Given the description of an element on the screen output the (x, y) to click on. 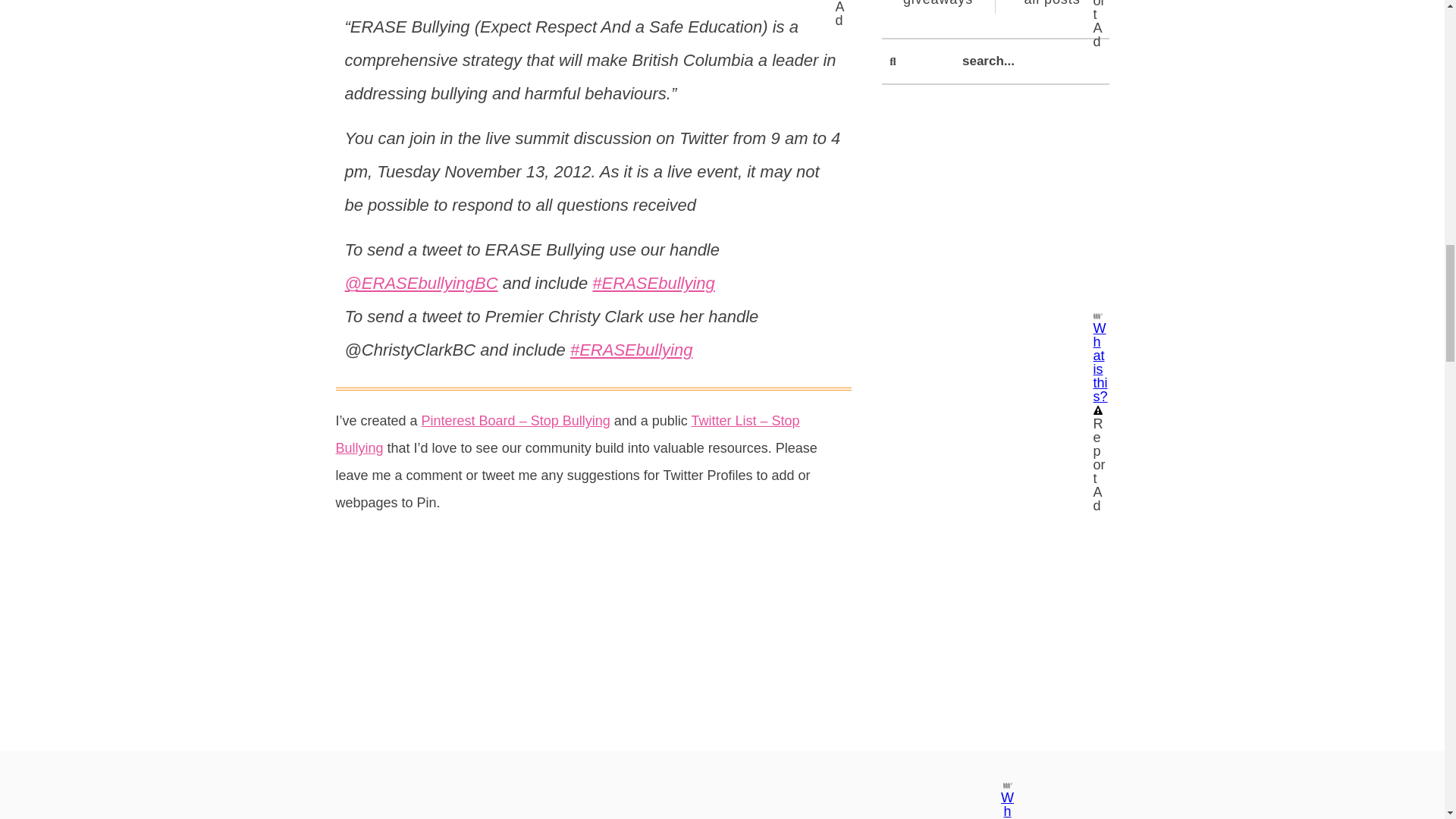
3rd party ad content (994, 212)
stop-bullying (592, 665)
